Given the description of an element on the screen output the (x, y) to click on. 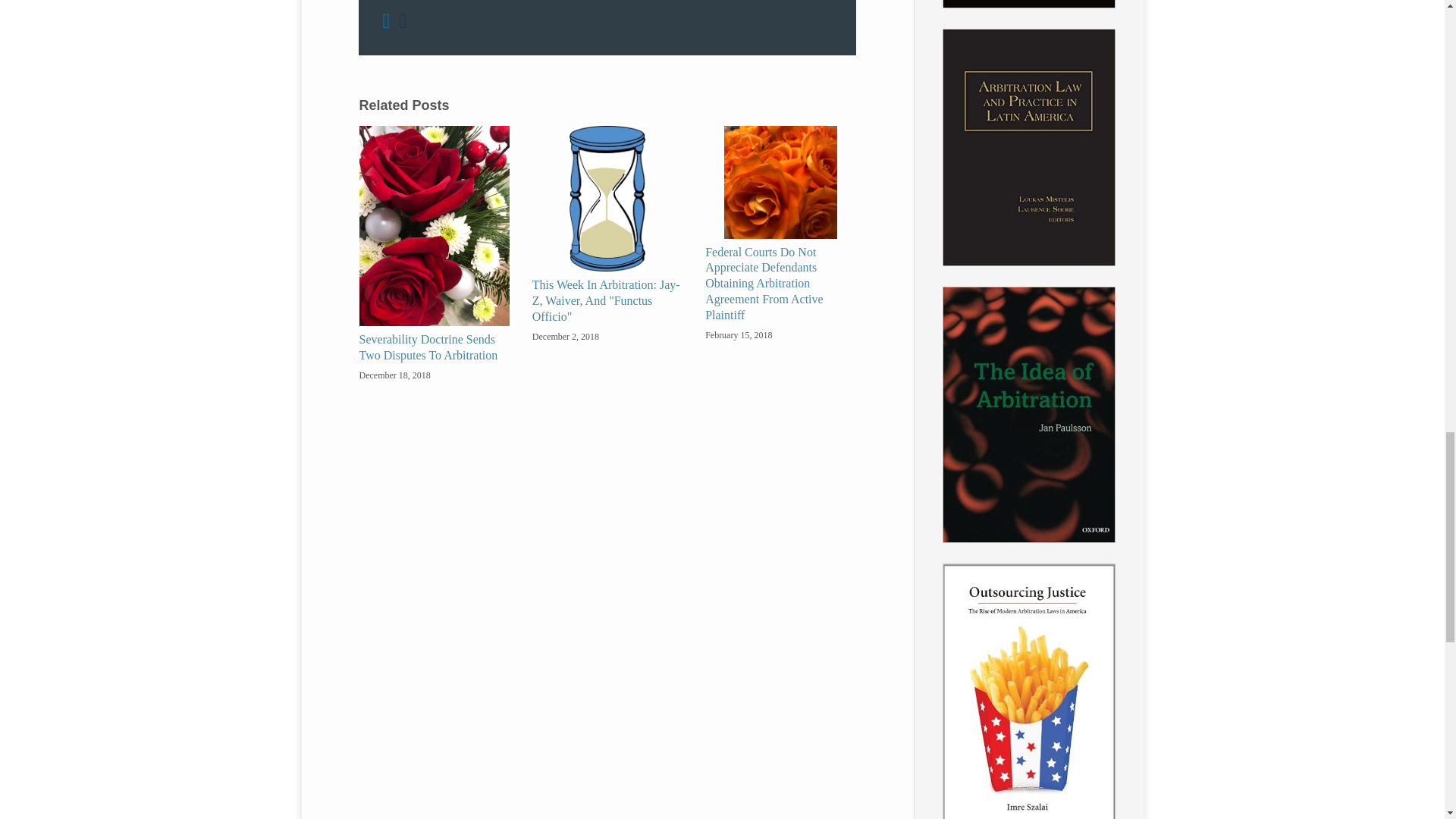
Severability Doctrine Sends Two Disputes To Arbitration (434, 347)
